Given the description of an element on the screen output the (x, y) to click on. 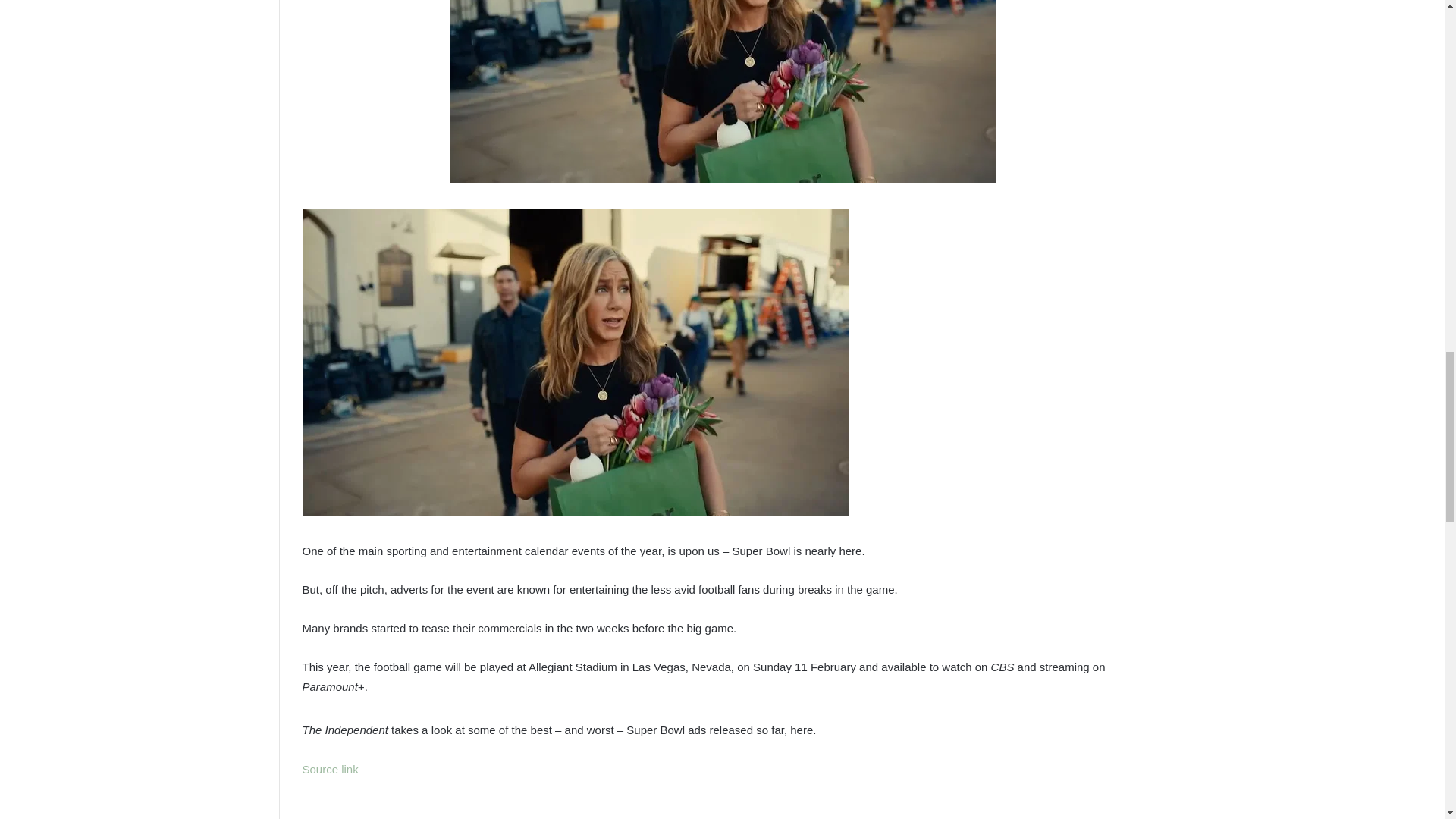
Source link (329, 768)
